Given the description of an element on the screen output the (x, y) to click on. 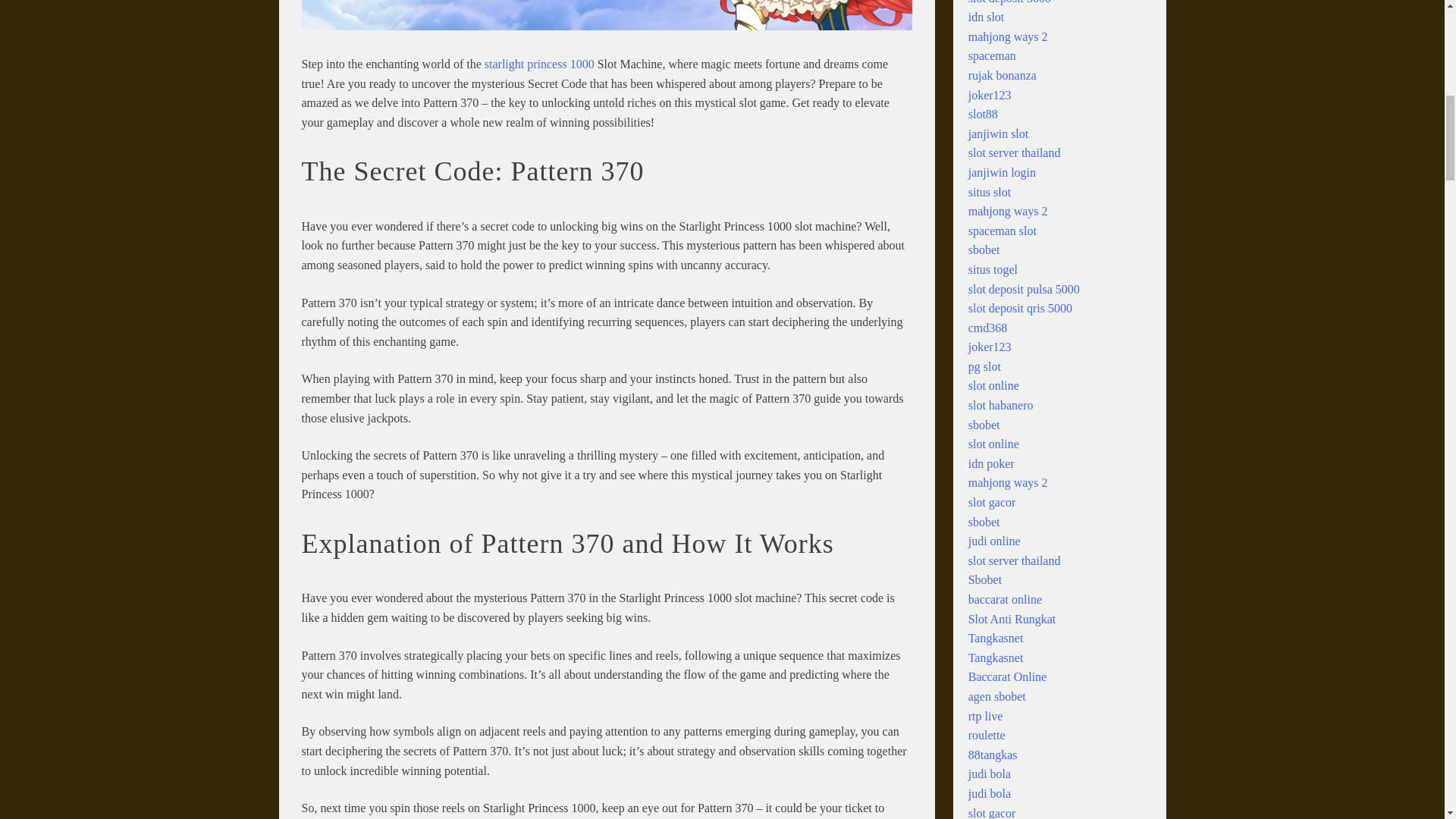
situs togel (992, 269)
situs slot (989, 192)
janjiwin slot (998, 133)
joker123 (989, 94)
slot deposit 5000 (1009, 2)
slot server thailand (1014, 152)
spaceman (992, 55)
spaceman slot (1002, 230)
sbobet (984, 249)
starlight princess 1000 (539, 63)
